Given the description of an element on the screen output the (x, y) to click on. 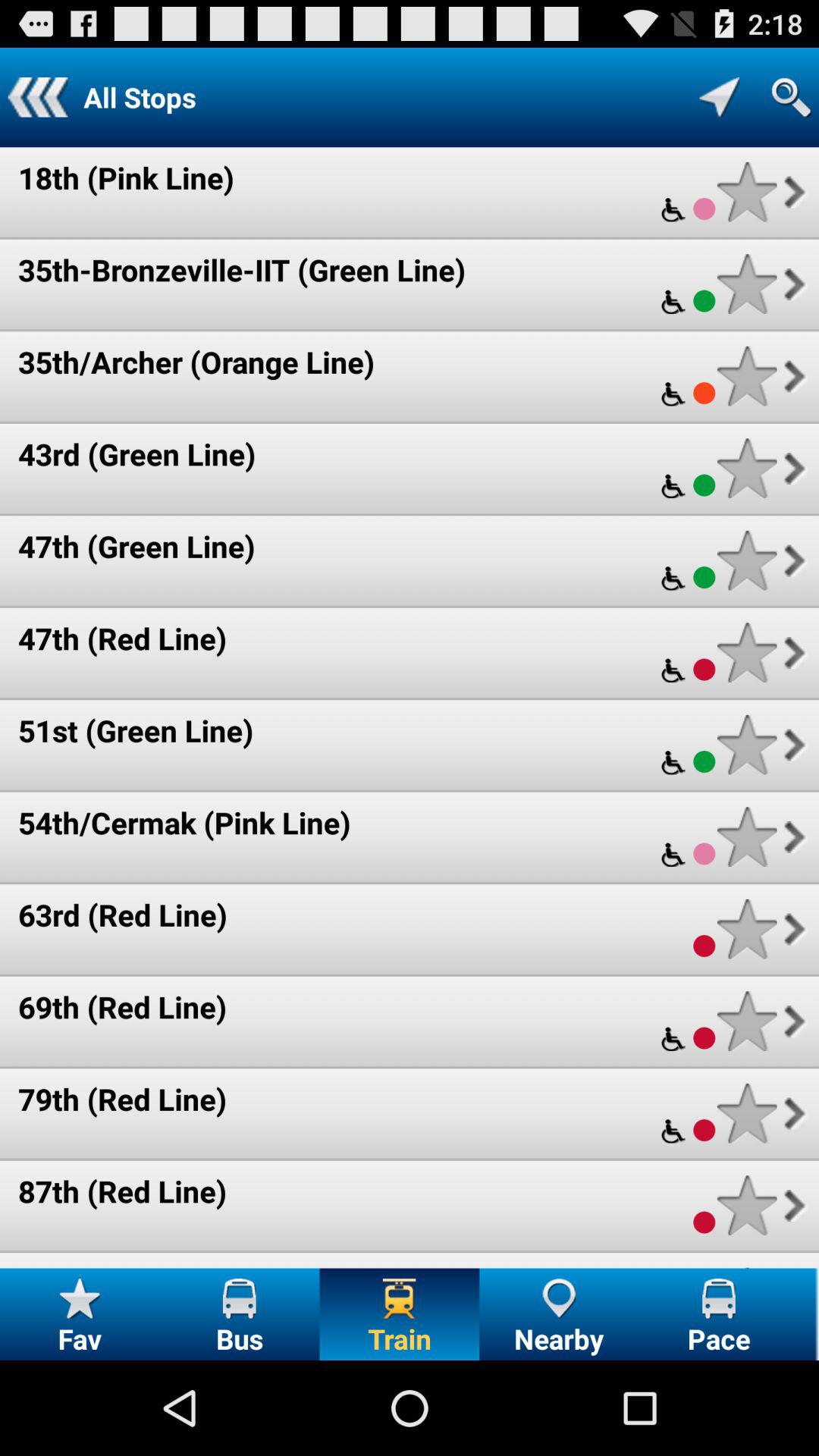
save as favorite (746, 836)
